Given the description of an element on the screen output the (x, y) to click on. 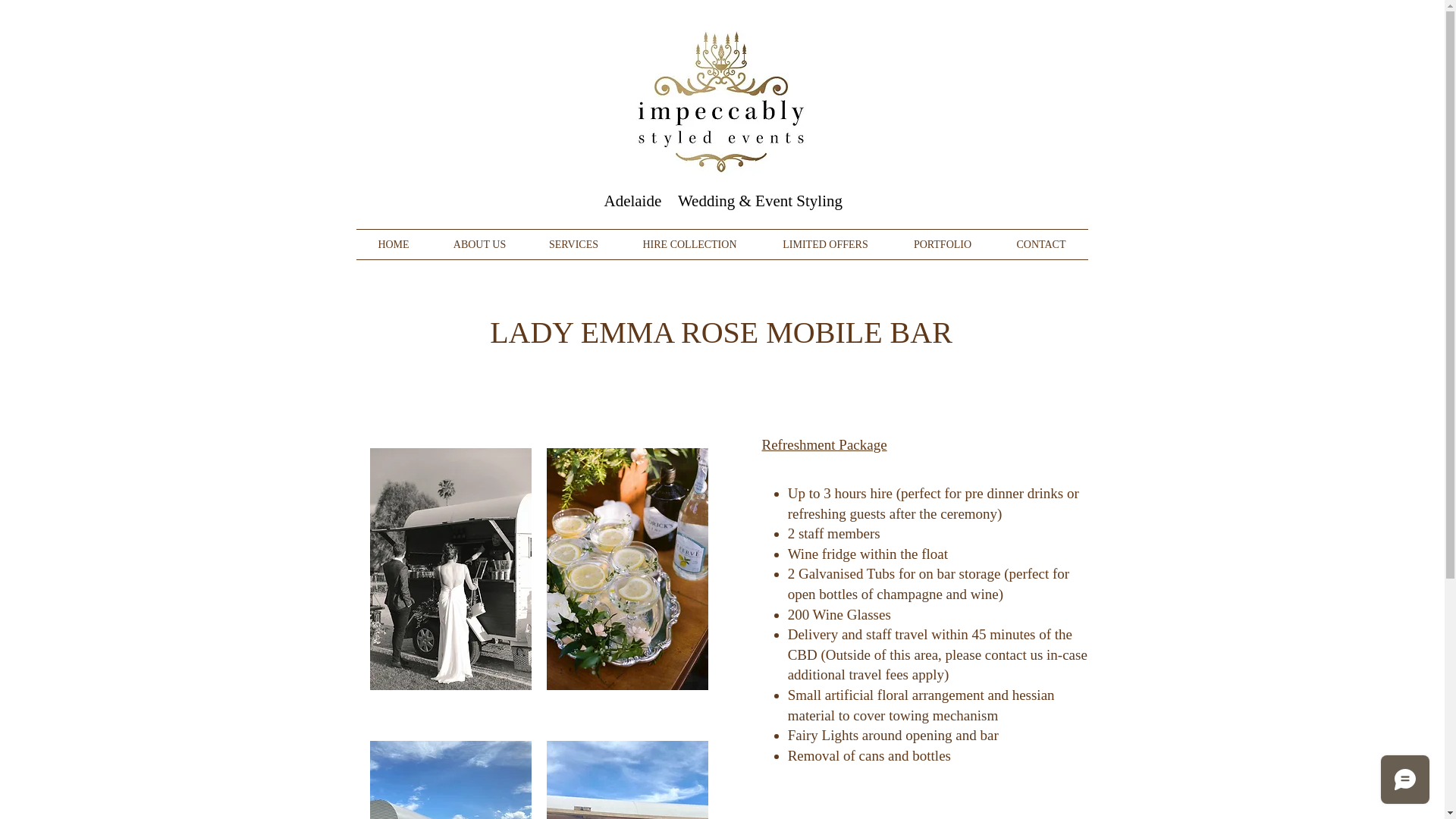
CONTACT (1040, 244)
PORTFOLIO (941, 244)
LIMITED OFFERS (824, 244)
HOME (393, 244)
HIRE COLLECTION (689, 244)
SERVICES (572, 244)
ABOUT US (478, 244)
